Given the description of an element on the screen output the (x, y) to click on. 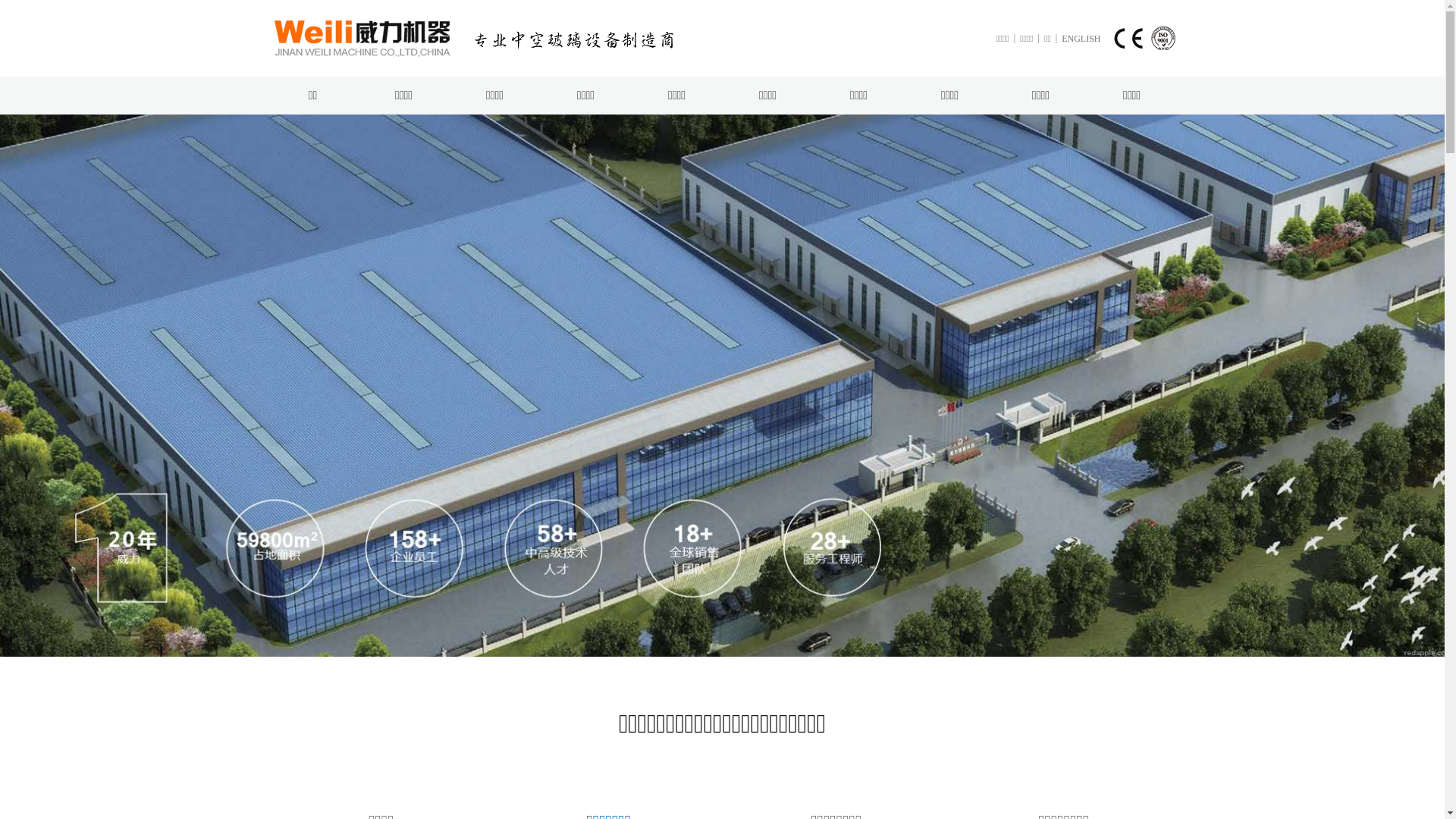
ENGLISH Element type: text (1080, 38)
